Given the description of an element on the screen output the (x, y) to click on. 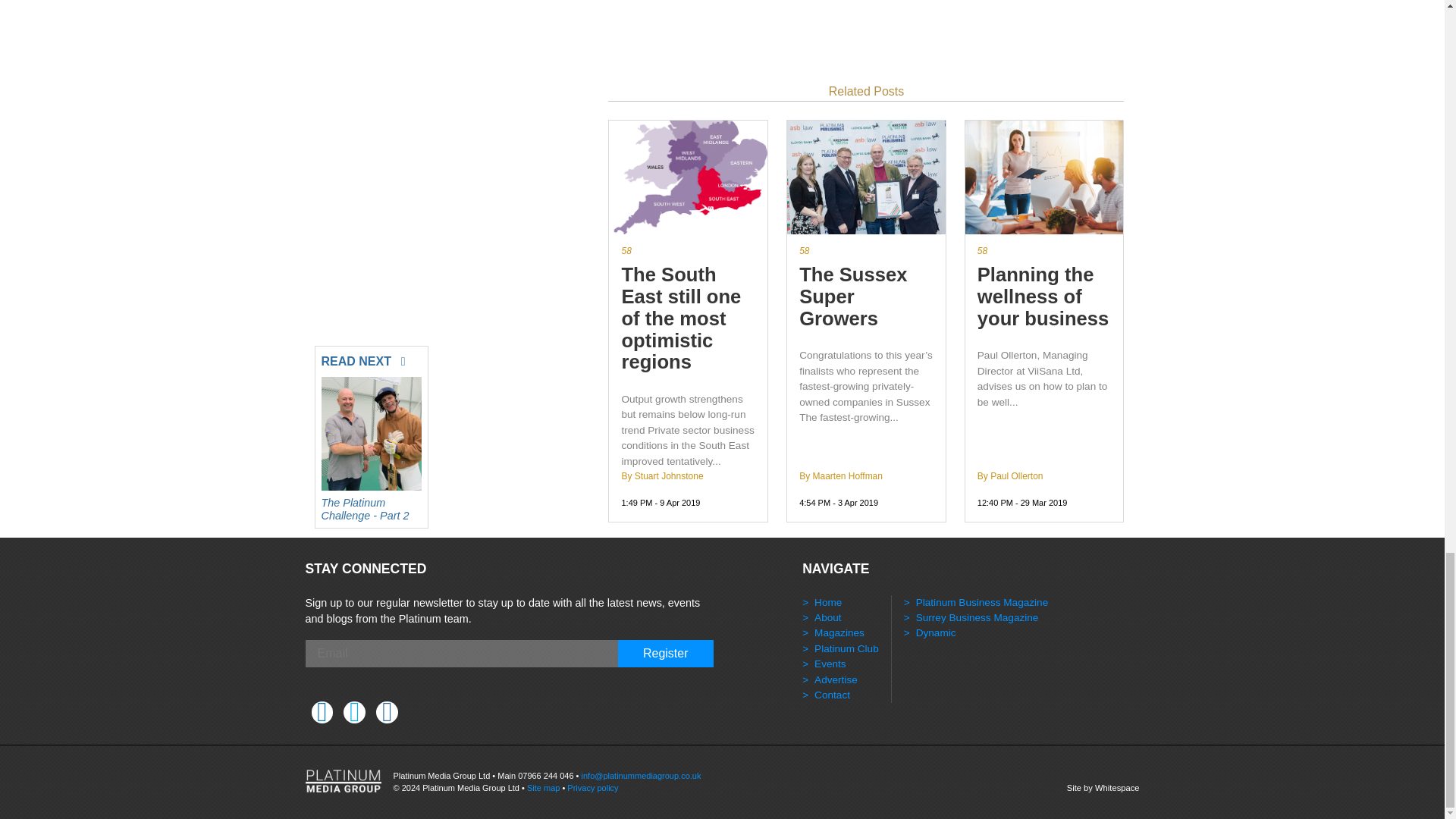
58 (1044, 250)
By Stuart Johnstone (662, 475)
58 (688, 250)
READ NEXT (371, 358)
The South East still one of the most optimistic regions (688, 318)
By Maarten Hoffman (840, 475)
58 (866, 250)
The Platinum Challenge - Part 2 (371, 505)
The Sussex Super Growers (866, 296)
